Given the description of an element on the screen output the (x, y) to click on. 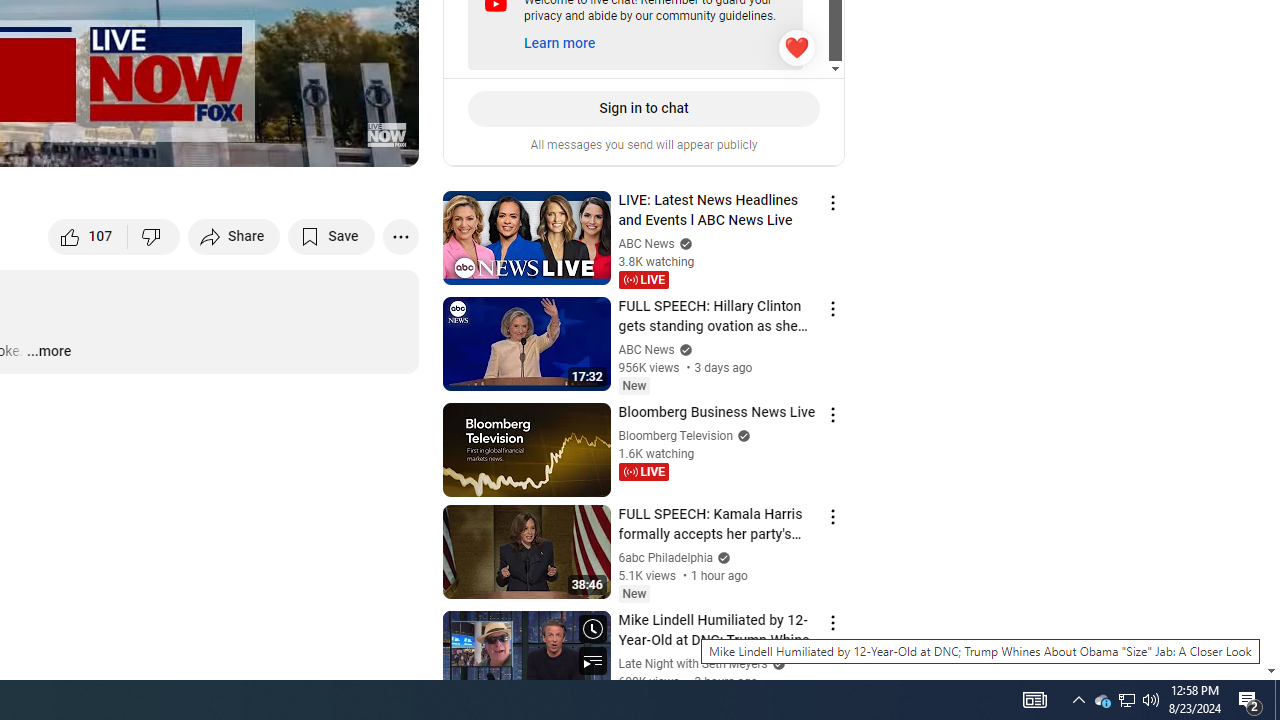
Share (234, 236)
Verified (775, 663)
Learn more (558, 43)
like this video along with 107 other people (88, 236)
New (634, 593)
Miniplayer (i) (286, 142)
Save to playlist (331, 236)
Action menu (832, 623)
More actions (399, 236)
Subtitles/closed captions unavailable (190, 142)
